Given the description of an element on the screen output the (x, y) to click on. 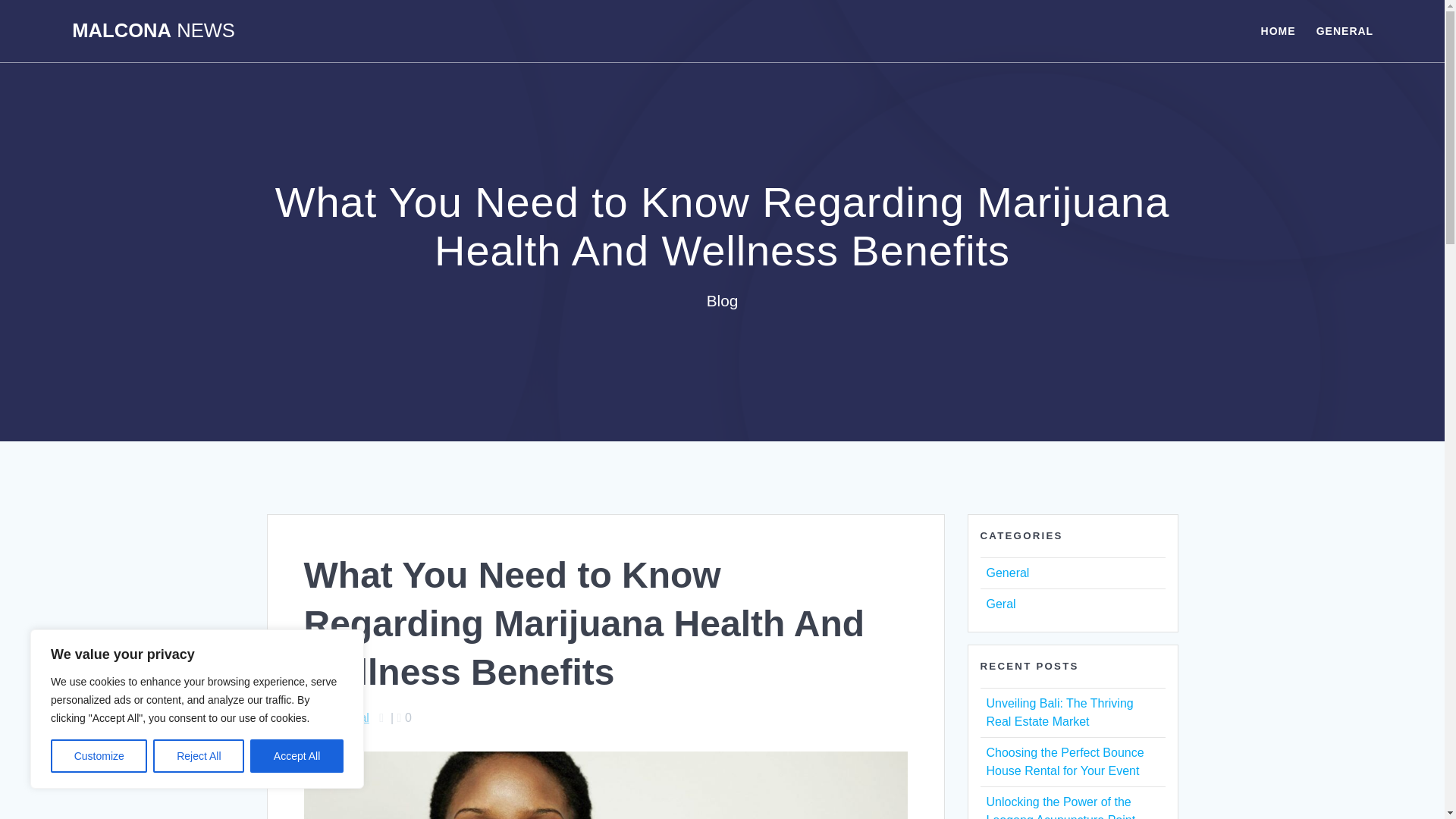
Geral (999, 603)
Reject All (198, 756)
Unveiling Bali: The Thriving Real Estate Market (1058, 712)
Customize (98, 756)
Choosing the Perfect Bounce House Rental for Your Event (1063, 761)
General (1007, 572)
General (347, 717)
GENERAL (1344, 30)
HOME (1277, 30)
MALCONA NEWS (152, 30)
